Given the description of an element on the screen output the (x, y) to click on. 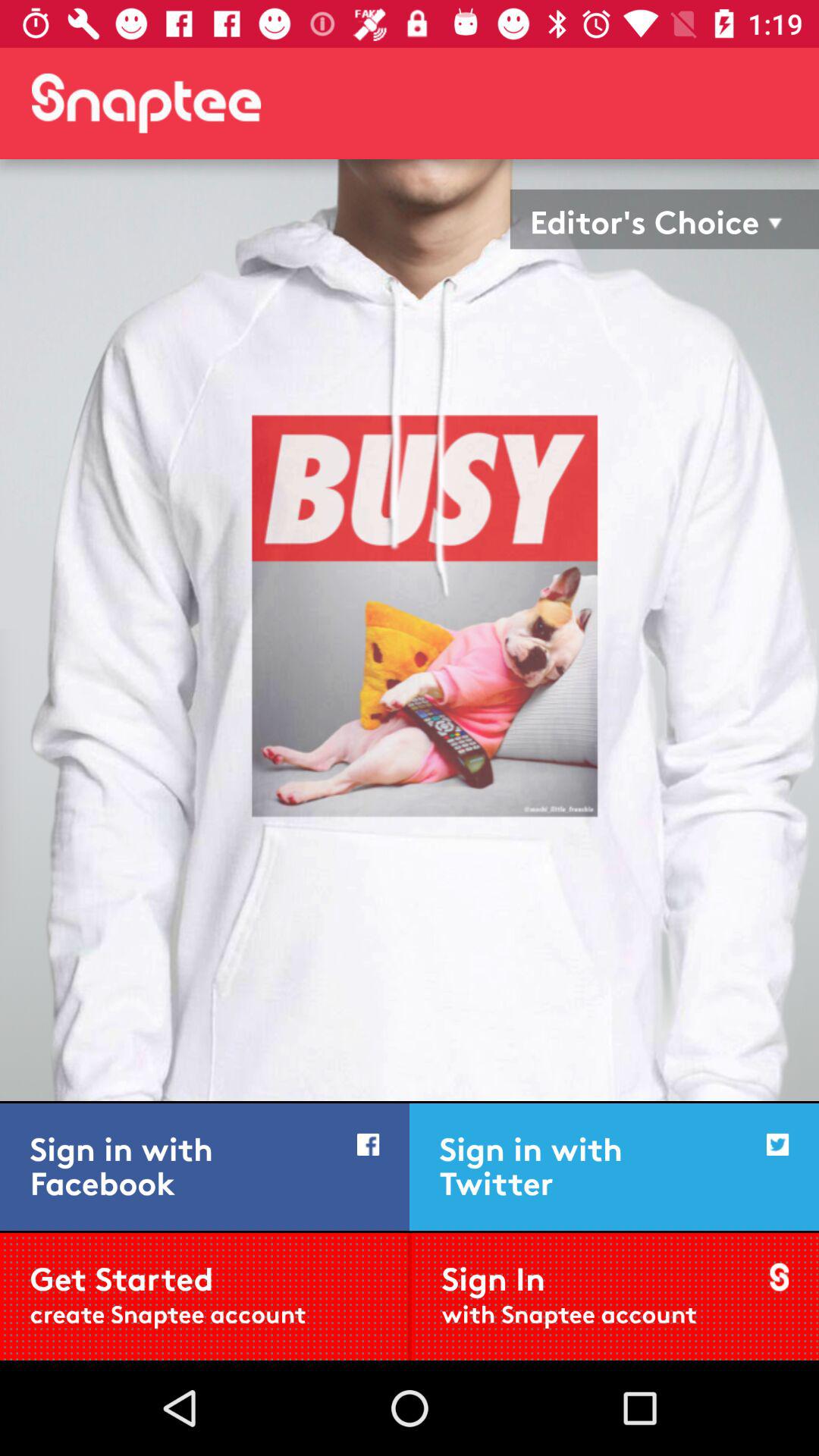
press the editor's choice icon (644, 219)
